Given the description of an element on the screen output the (x, y) to click on. 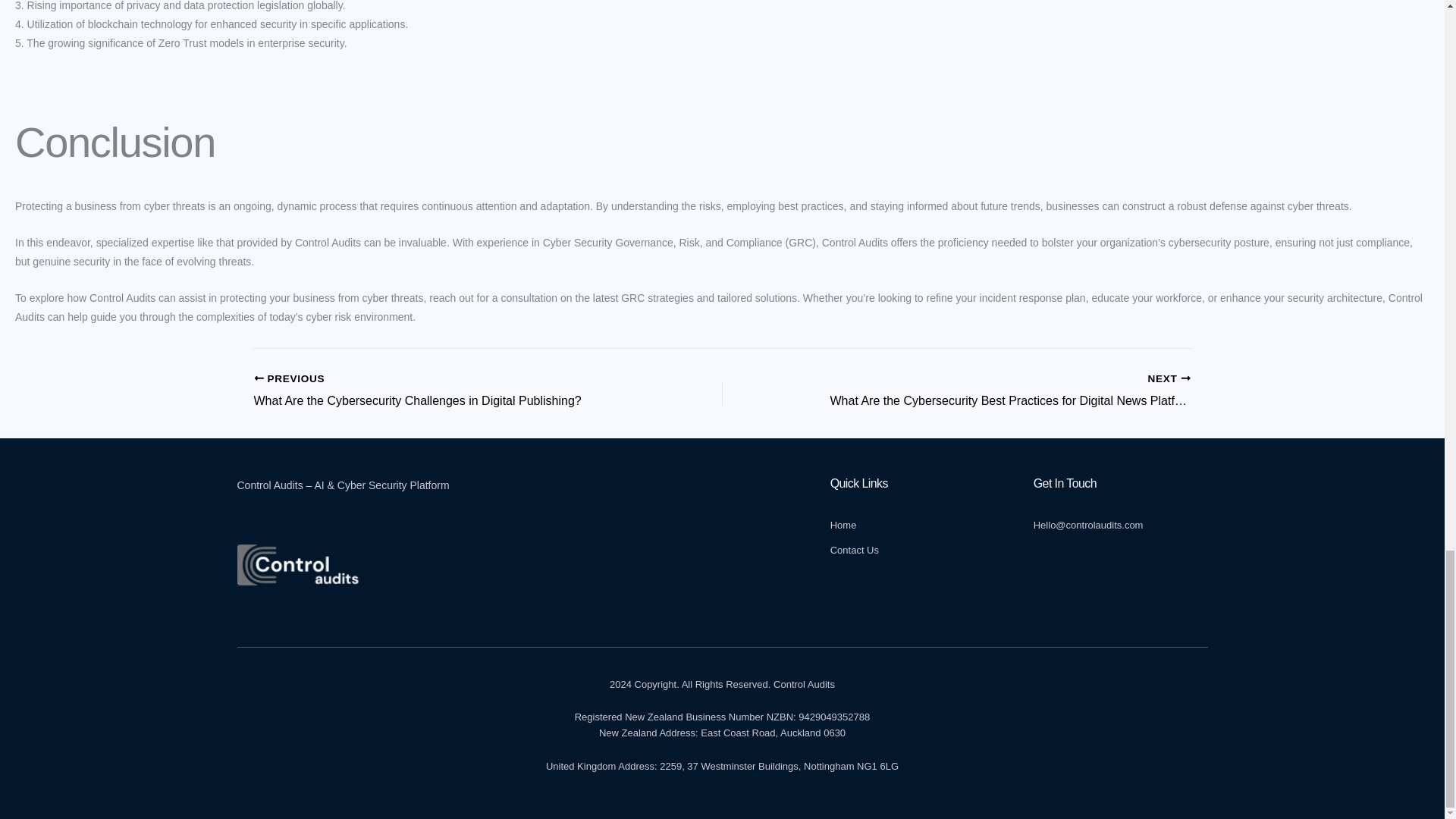
What Are the Cybersecurity Challenges in Digital Publishing? (440, 391)
Contact Us (916, 550)
Home (916, 525)
